Given the description of an element on the screen output the (x, y) to click on. 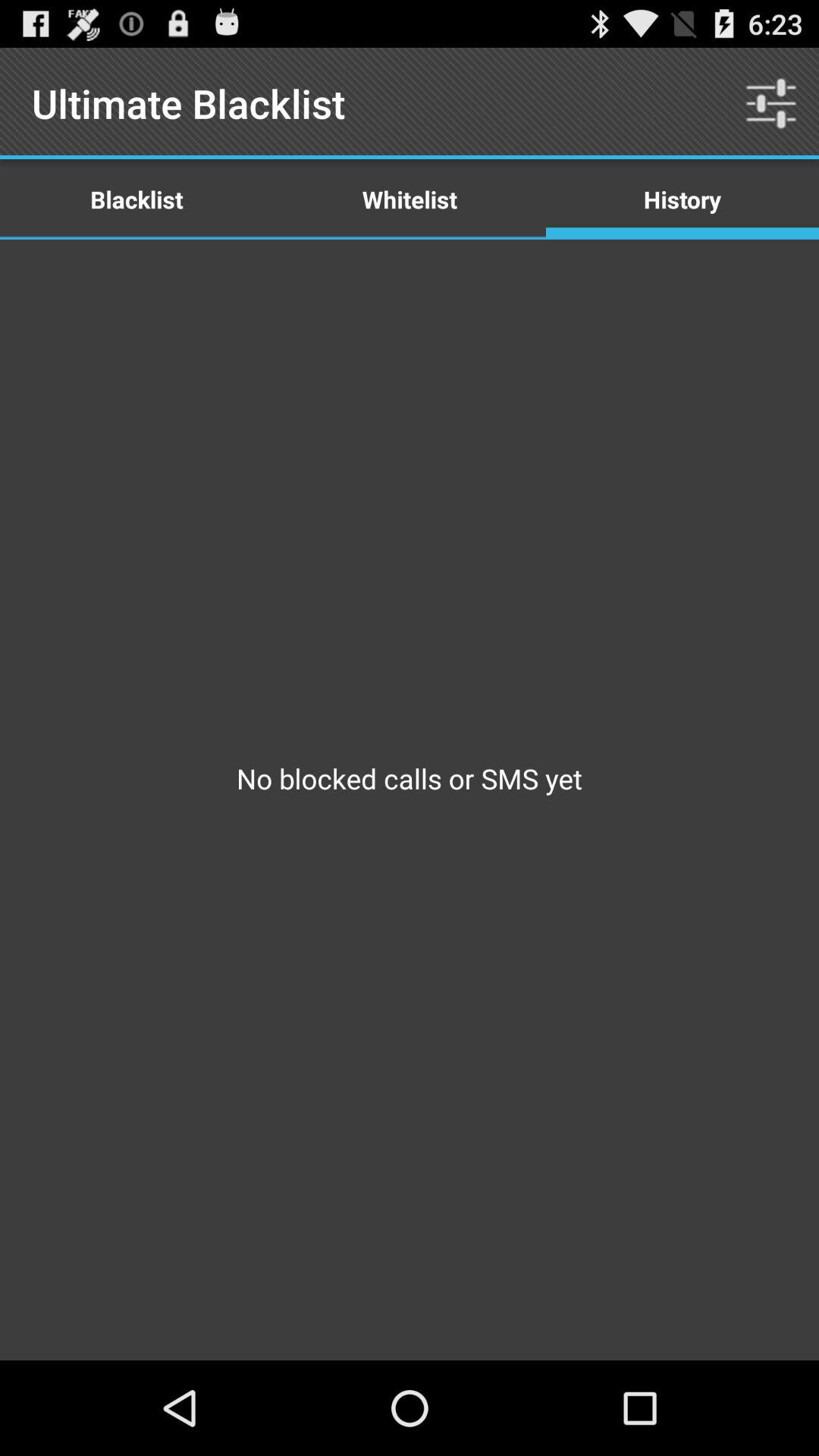
swipe to the whitelist item (409, 199)
